Given the description of an element on the screen output the (x, y) to click on. 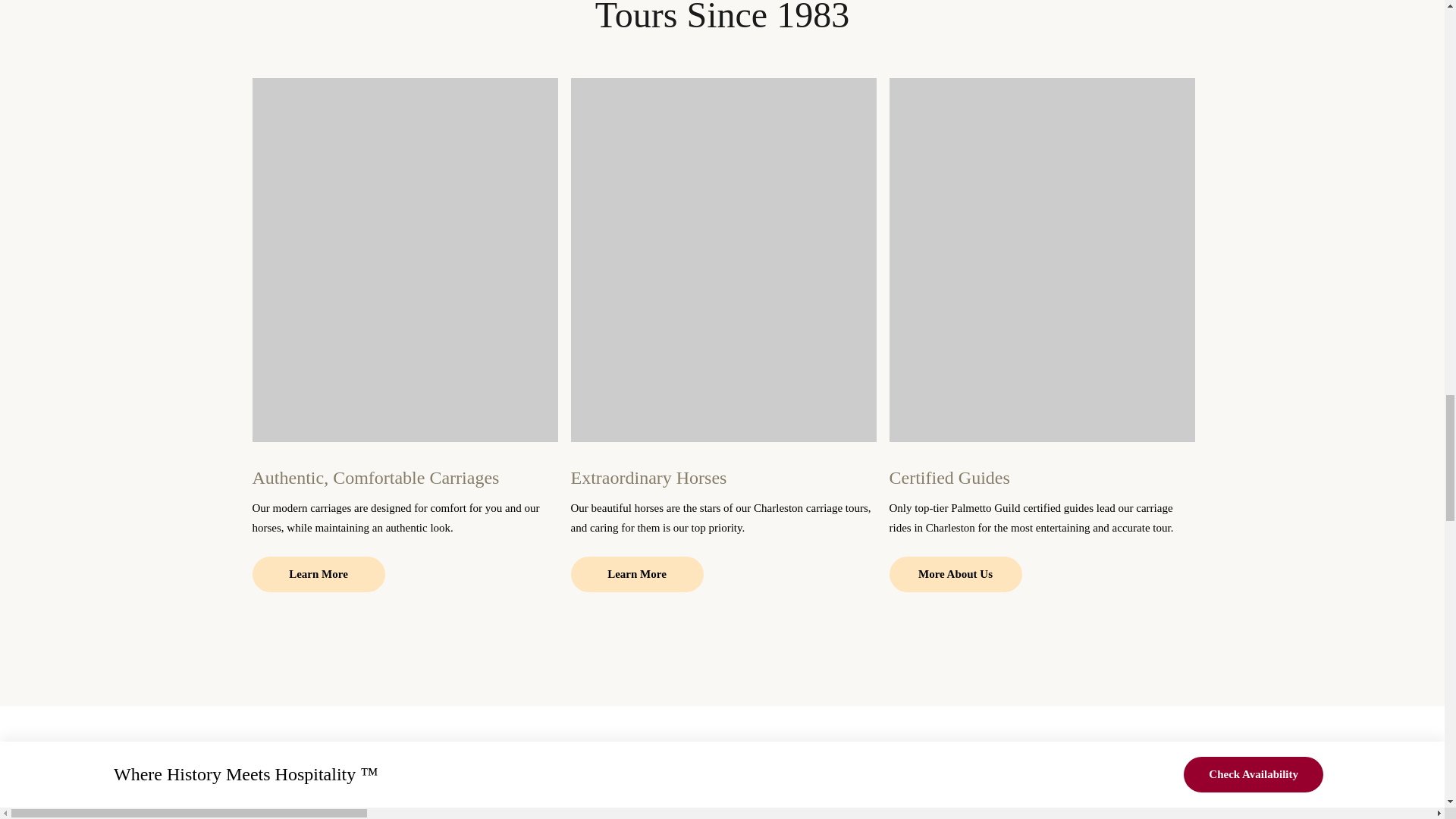
Learn More (636, 574)
More About Us (955, 574)
Learn More (317, 574)
